Given the description of an element on the screen output the (x, y) to click on. 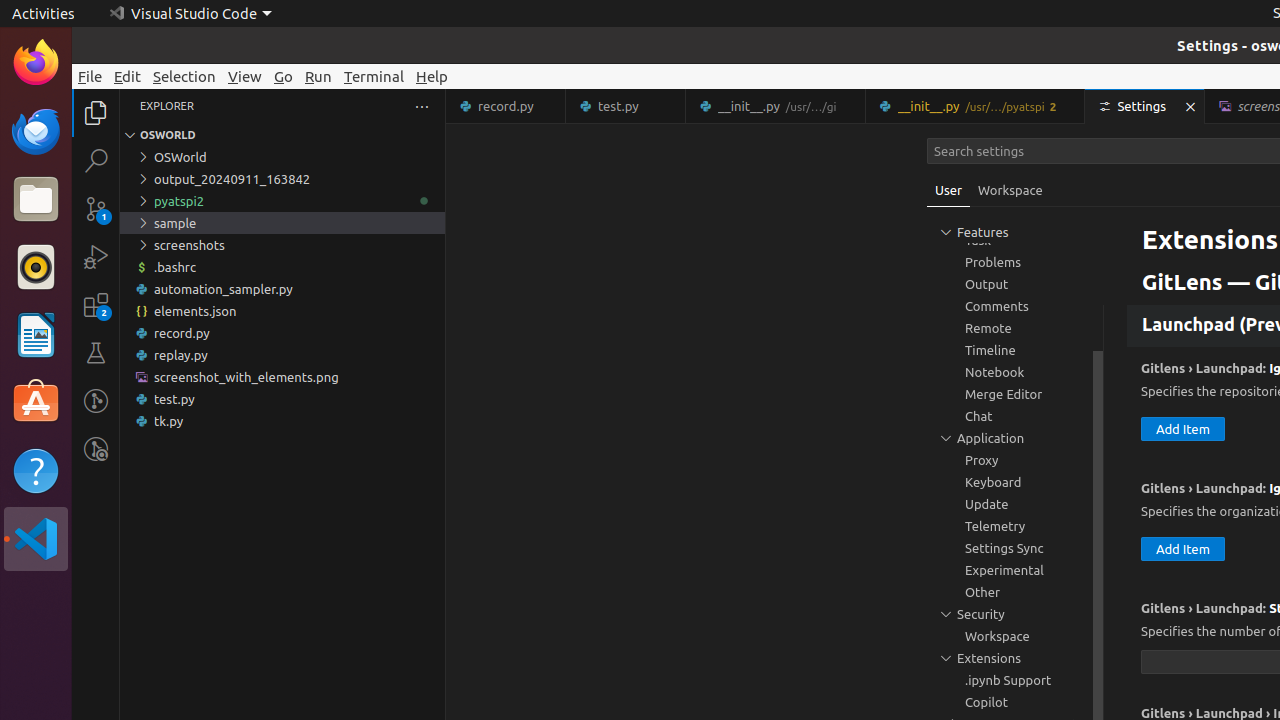
sample Element type: tree-item (282, 223)
Extensions, group Element type: tree-item (1015, 658)
pyatspi2 Element type: tree-item (282, 201)
Copilot, group Element type: tree-item (1015, 702)
Edit Element type: push-button (127, 76)
